Given the description of an element on the screen output the (x, y) to click on. 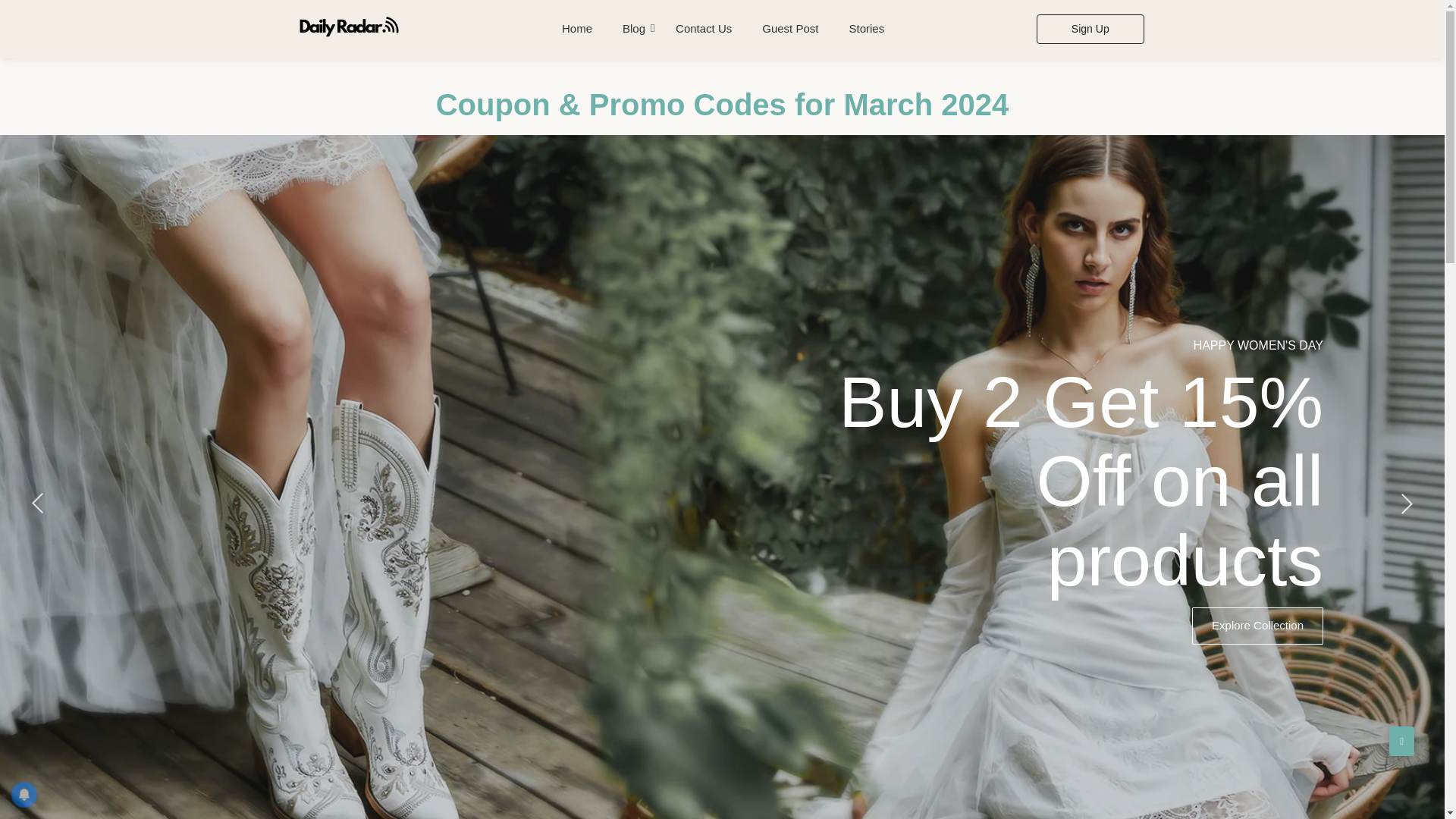
Contact Us (703, 28)
Guest Post (789, 28)
Explore Collection (1257, 625)
Sign Up (1090, 29)
